Given the description of an element on the screen output the (x, y) to click on. 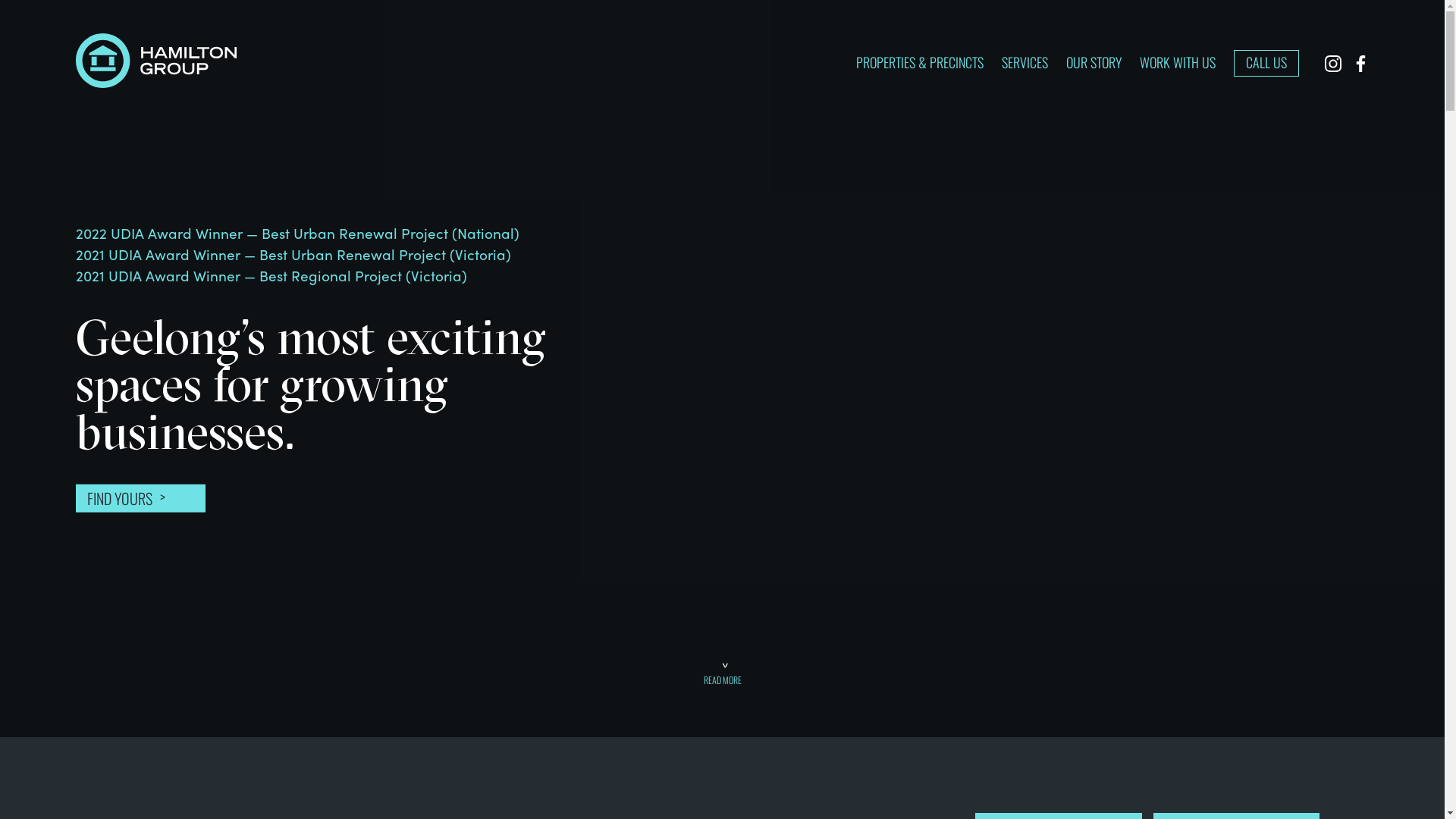
Find us on Instagram Element type: text (1332, 63)
CALL US Element type: text (1266, 63)
WORK WITH US Element type: text (1177, 62)
OUR STORY Element type: text (1093, 62)
SERVICES Element type: text (1024, 62)
Follow us on Facebook Element type: text (1360, 63)
FIND YOURS Element type: text (140, 497)
PROPERTIES & PRECINCTS Element type: text (919, 62)
